Given the description of an element on the screen output the (x, y) to click on. 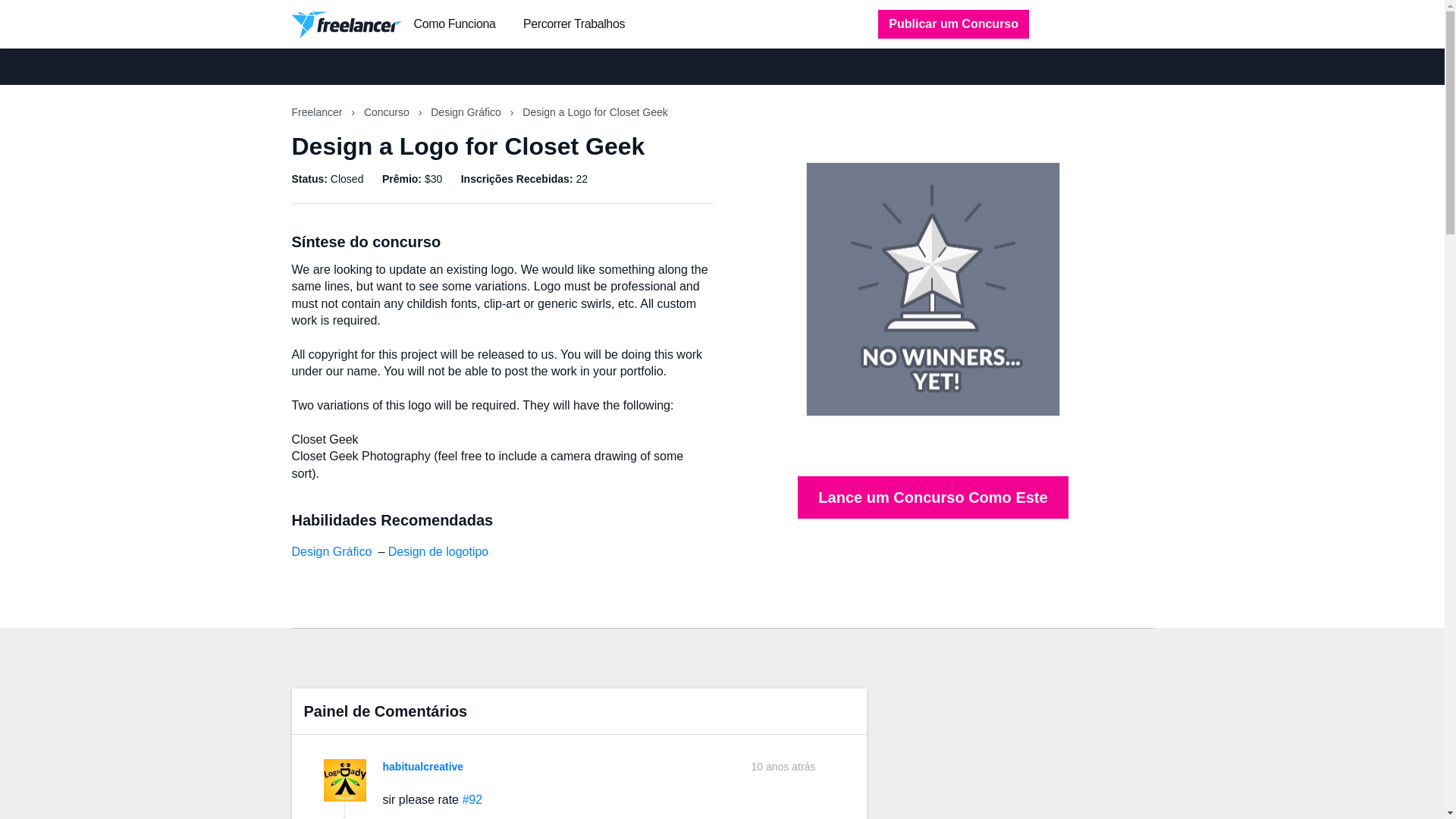
Percorrer Trabalhos (573, 24)
habitualcreative (422, 766)
Design de logotipo (438, 551)
Concurso (388, 111)
Publicar um Concurso (953, 23)
Lance um Concurso Como Este (932, 496)
Como Funciona (454, 24)
Freelancer (318, 111)
